Given the description of an element on the screen output the (x, y) to click on. 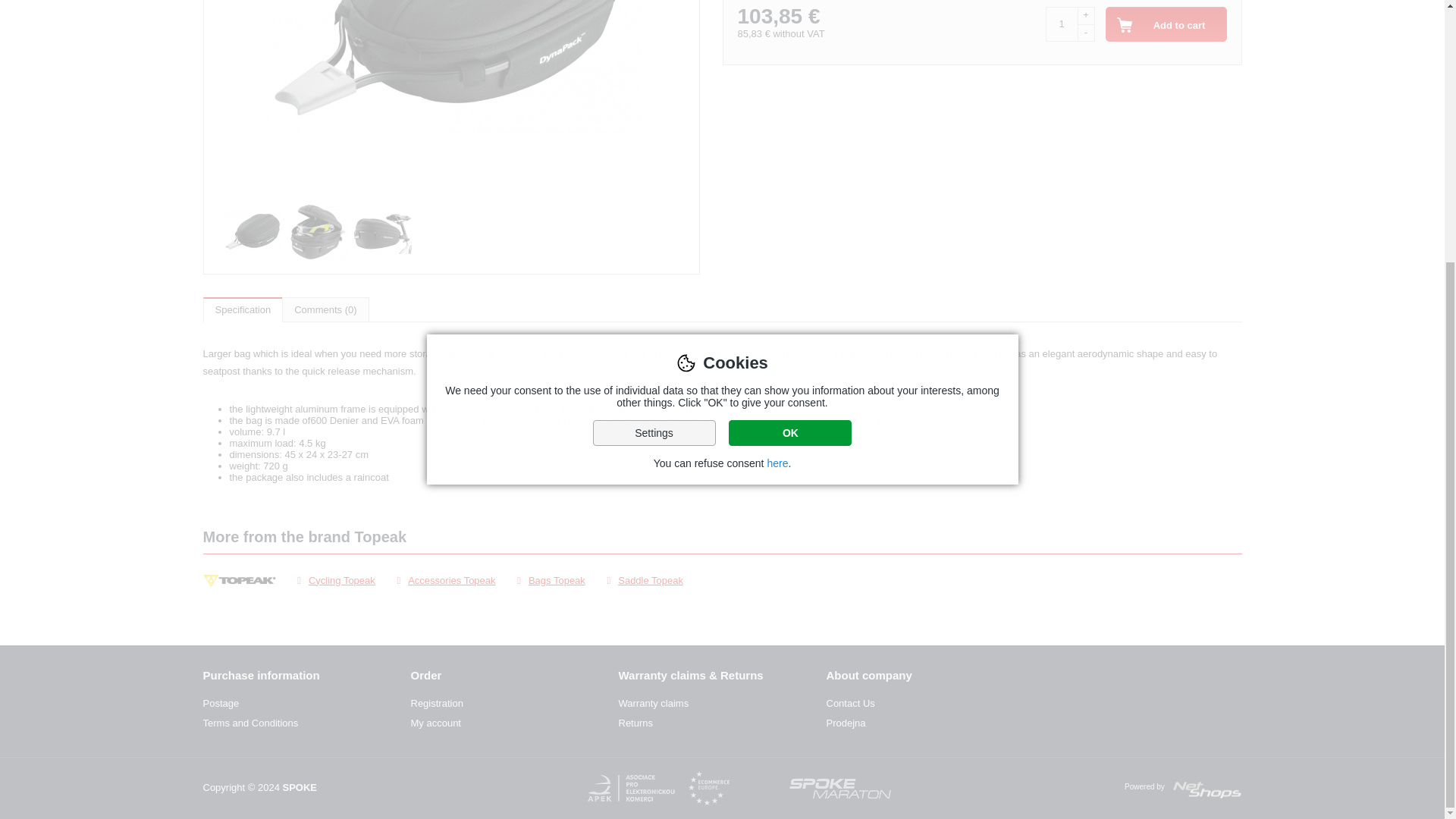
Add to cart (1166, 23)
1 (1061, 23)
